Given the description of an element on the screen output the (x, y) to click on. 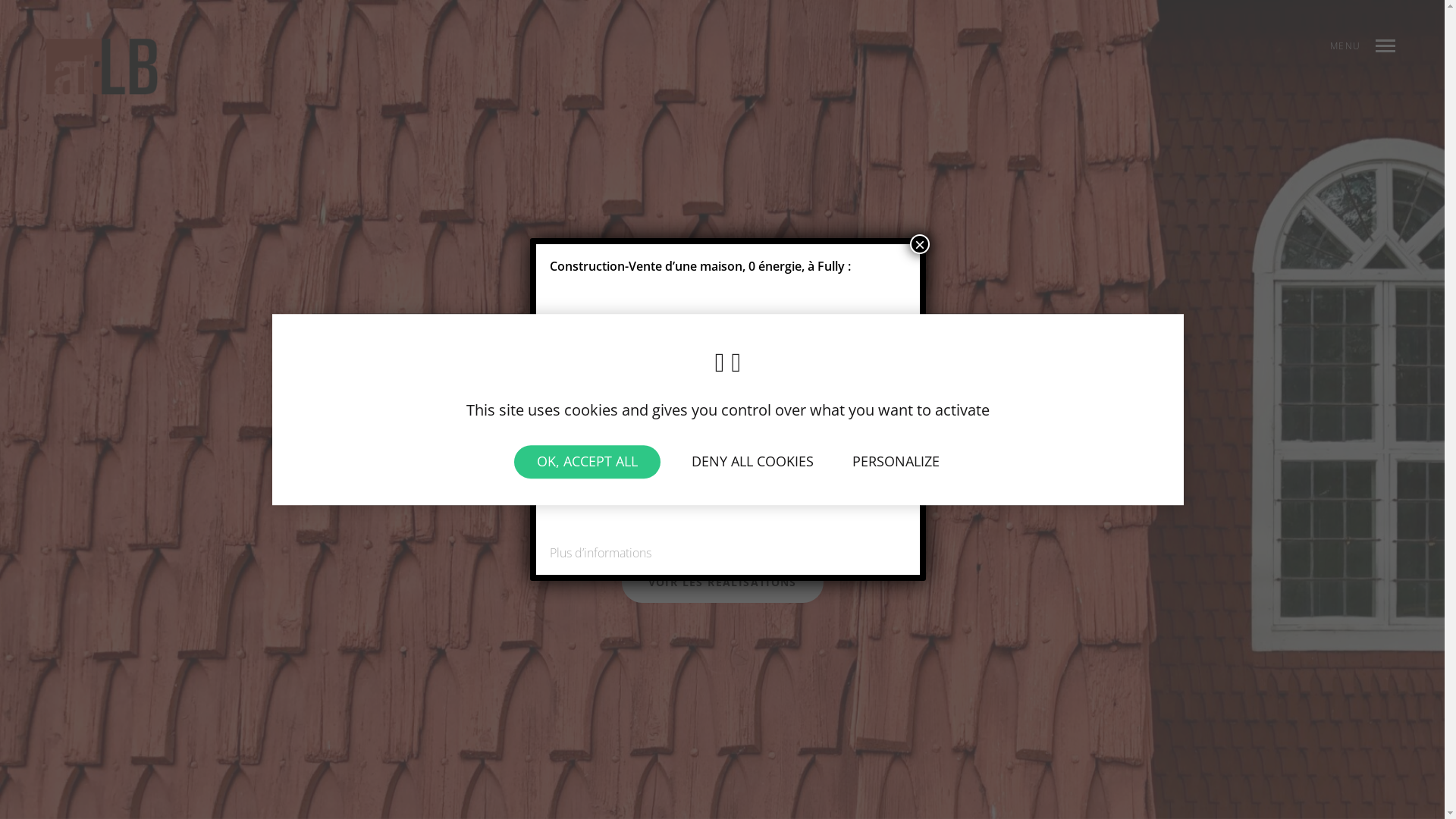
DENY ALL COOKIES Element type: text (752, 461)
OK, ACCEPT ALL Element type: text (587, 461)
PERSONALIZE Element type: text (895, 461)
ATLB Element type: hover (101, 65)
